Given the description of an element on the screen output the (x, y) to click on. 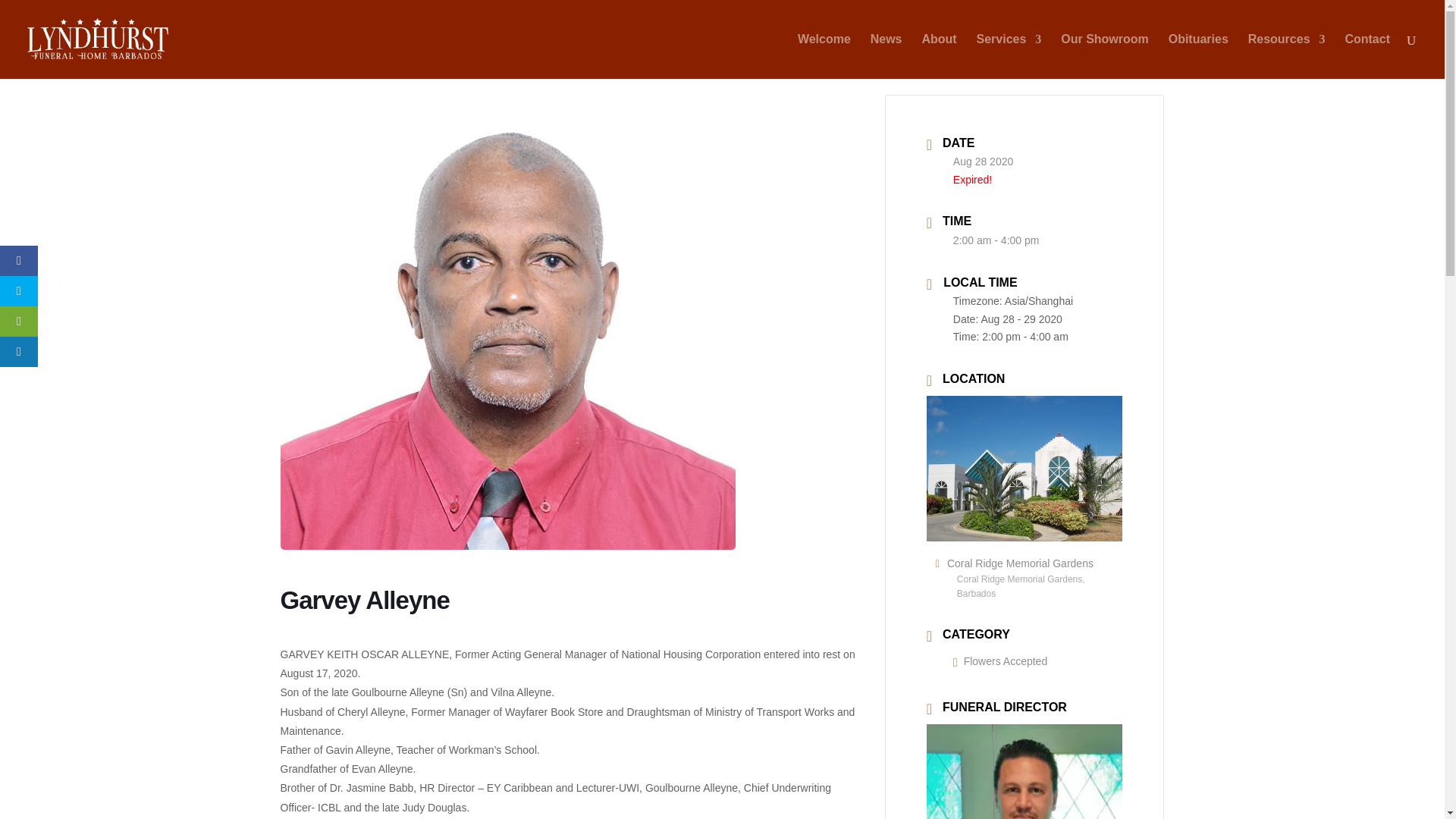
Our Showroom (1104, 56)
Welcome (823, 56)
Services (1009, 56)
Flowers Accepted (999, 661)
Obituaries (1198, 56)
Resources (1285, 56)
Contact (1366, 56)
